Given the description of an element on the screen output the (x, y) to click on. 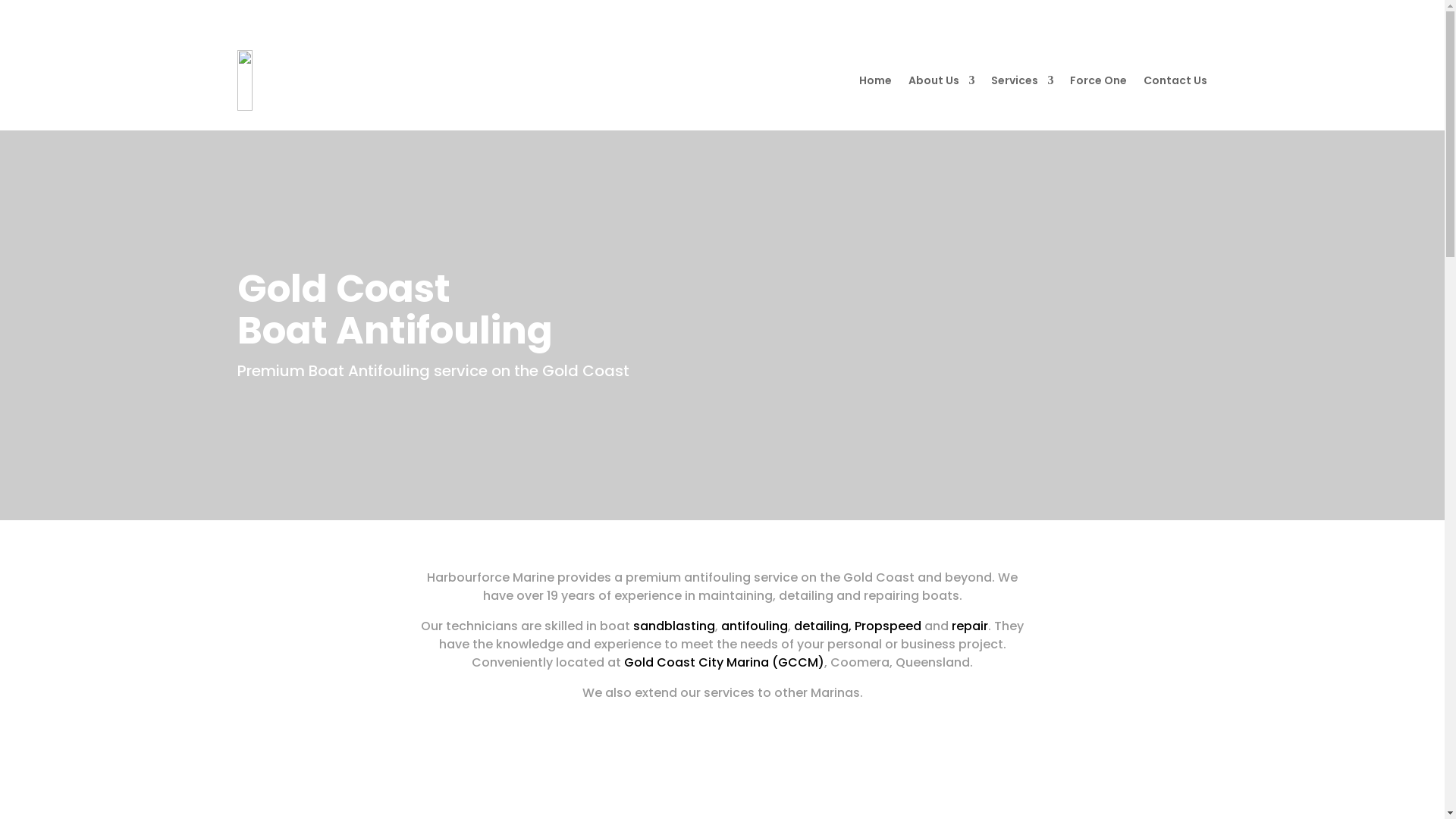
About Us Element type: text (941, 82)
Contact Us Element type: text (1175, 82)
sandblasting Element type: text (674, 625)
antifouling Element type: text (754, 625)
harbourforce-logo Element type: hover (359, 80)
repair Element type: text (969, 625)
detailing, Propspeed Element type: text (857, 625)
Force One Element type: text (1098, 82)
Home Element type: text (875, 82)
Gold Coast City Marina (GCCM) Element type: text (724, 662)
Services Element type: text (1022, 82)
